Given the description of an element on the screen output the (x, y) to click on. 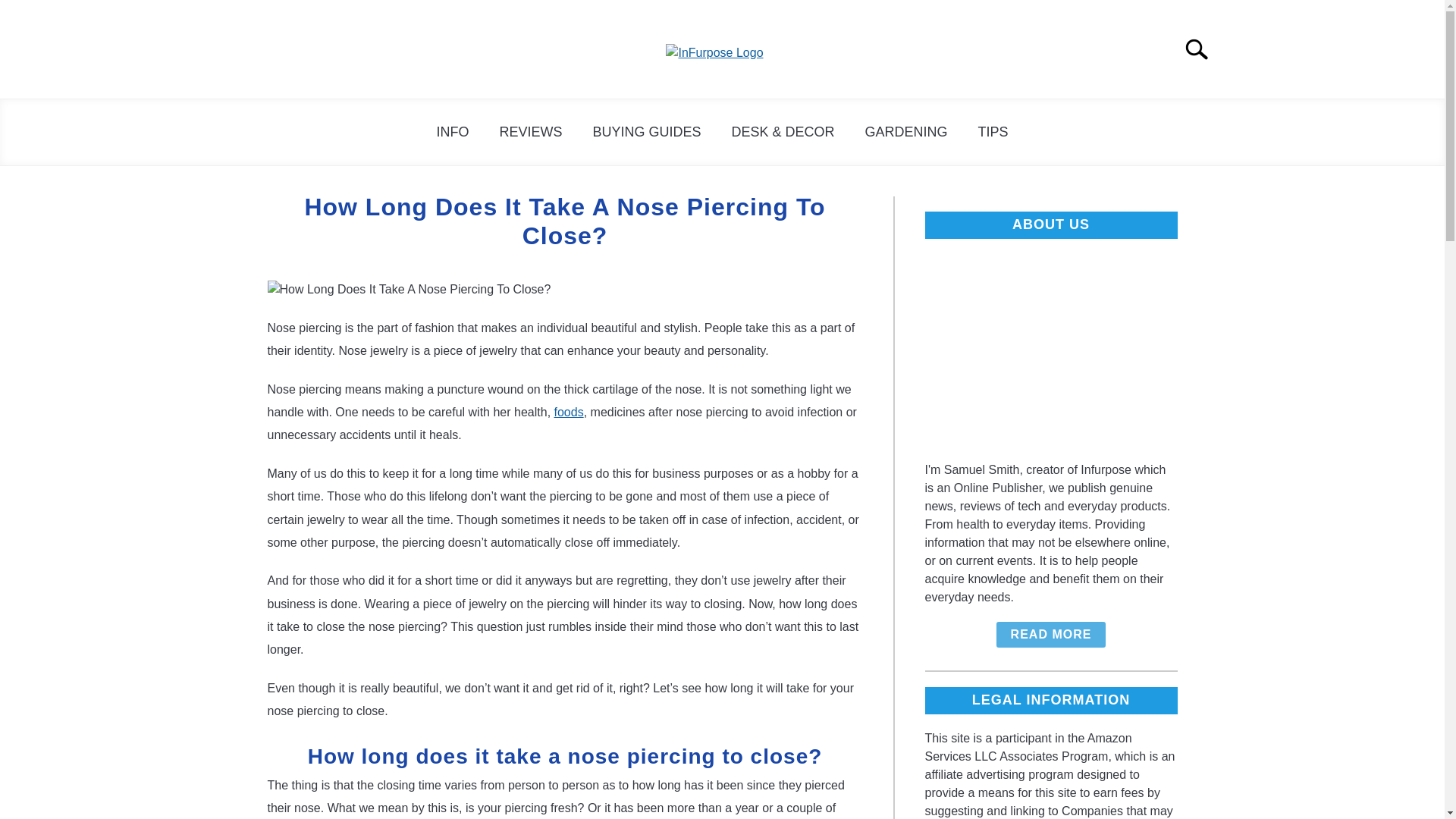
INFO (451, 131)
TIPS (992, 131)
REVIEWS (529, 131)
foods (568, 411)
GARDENING (906, 131)
BUYING GUIDES (646, 131)
Search (1203, 49)
READ MORE (1050, 634)
